Given the description of an element on the screen output the (x, y) to click on. 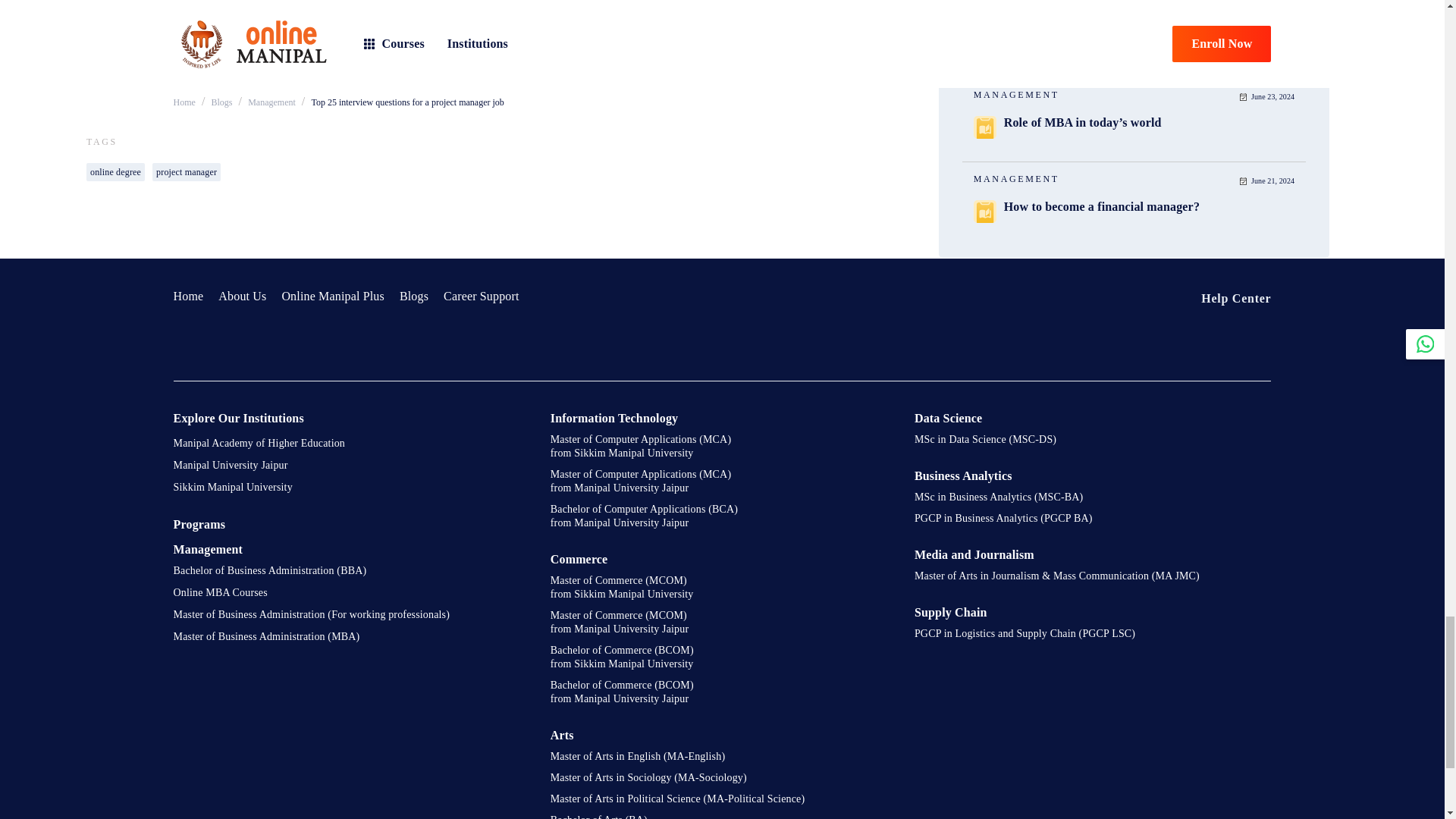
Manipal University Jaipur (350, 469)
About Us (242, 295)
Career Support (481, 295)
Online Manipal Plus (332, 295)
Home (188, 295)
Help Center (1224, 298)
Sikkim Manipal University (350, 491)
Manipal Academy of Higher Education (350, 447)
Blogs (413, 295)
